Given the description of an element on the screen output the (x, y) to click on. 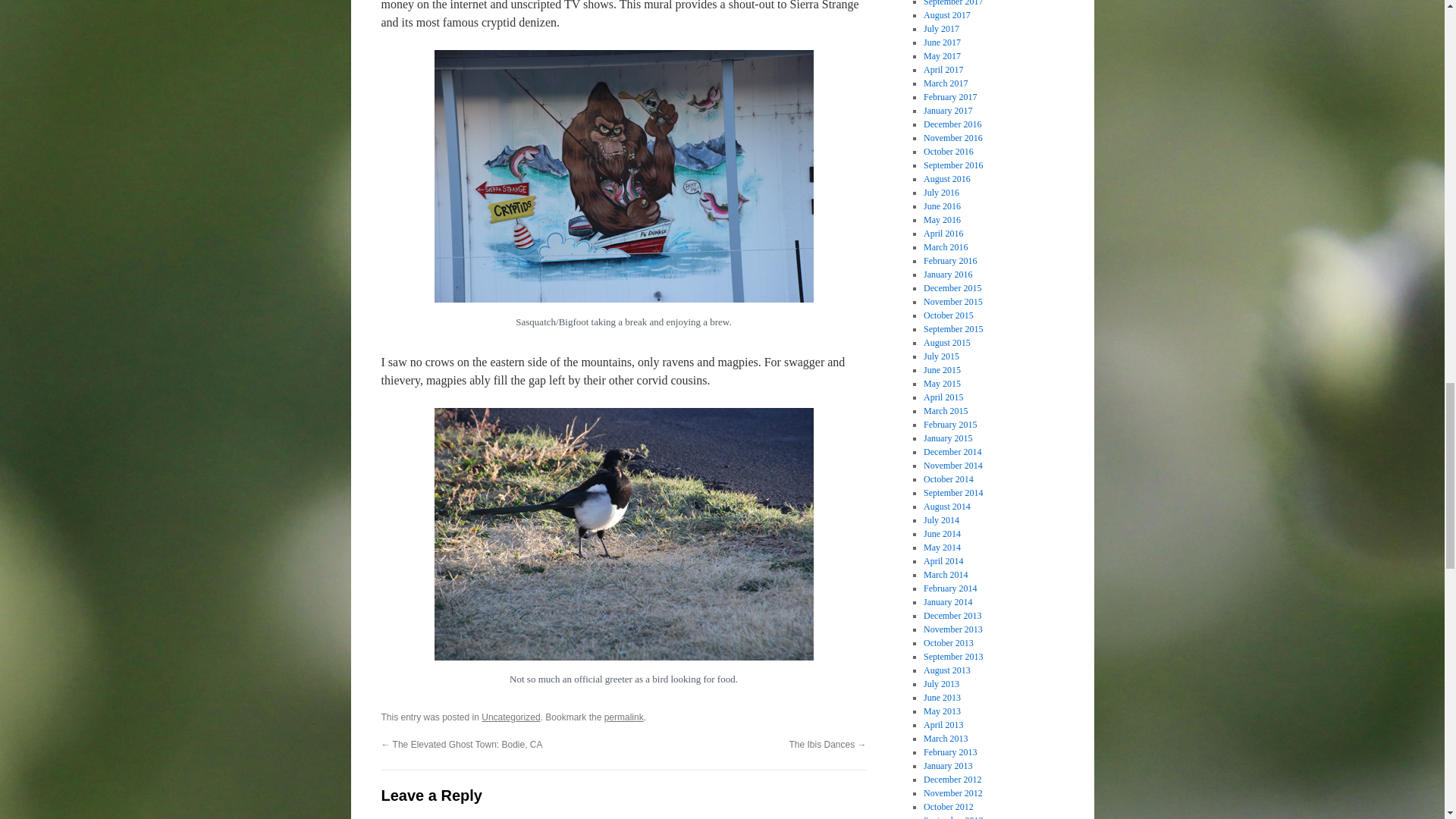
Permalink to Random Images from Bridgeport (623, 716)
permalink (623, 716)
Uncategorized (510, 716)
